Given the description of an element on the screen output the (x, y) to click on. 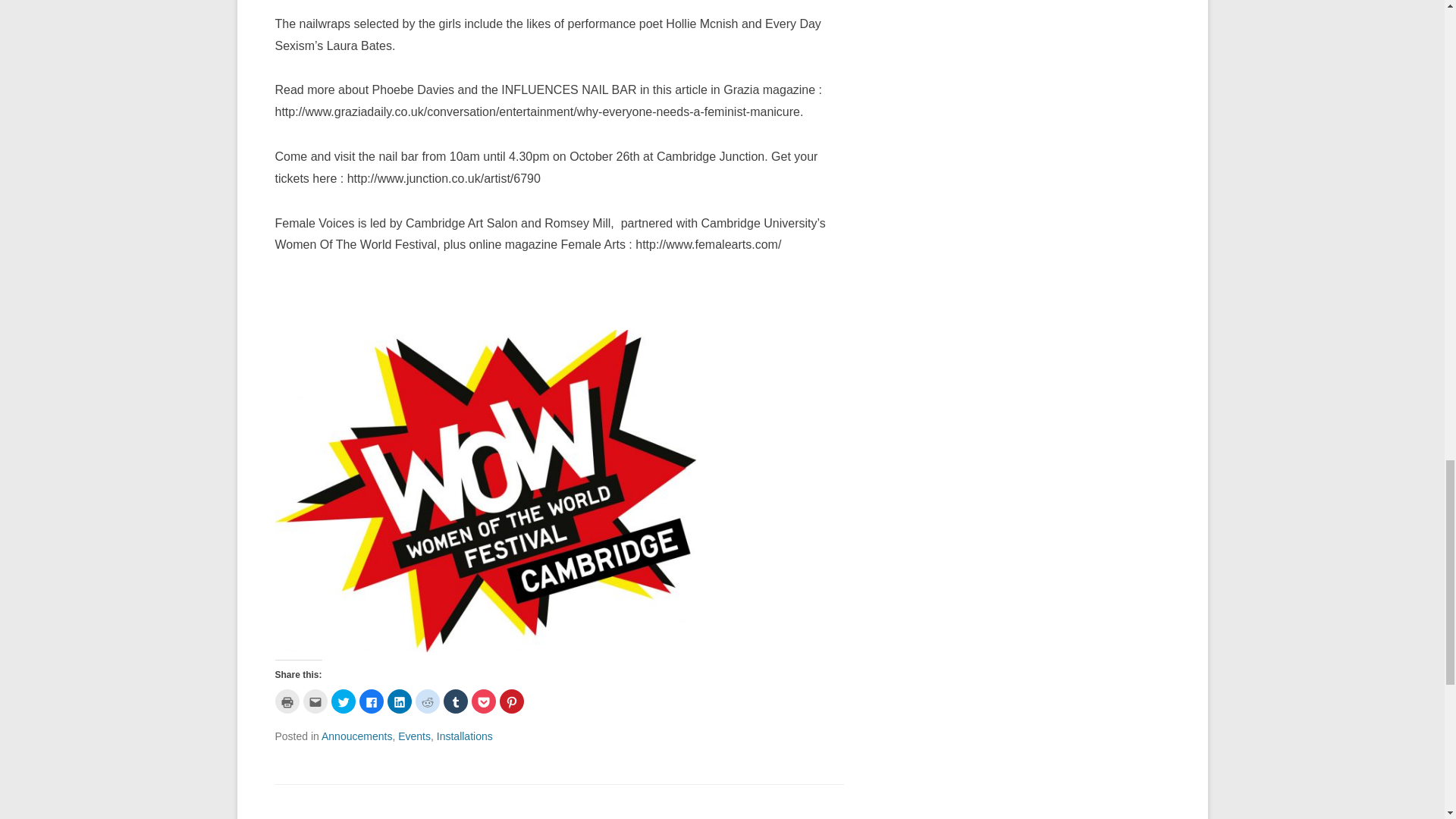
Click to share on Tumblr (454, 701)
Click to share on Twitter (342, 701)
Click to email this to a friend (314, 701)
Click to print (286, 701)
Click to share on LinkedIn (398, 701)
Click to share on Facebook (371, 701)
Click to share on Reddit (426, 701)
